Given the description of an element on the screen output the (x, y) to click on. 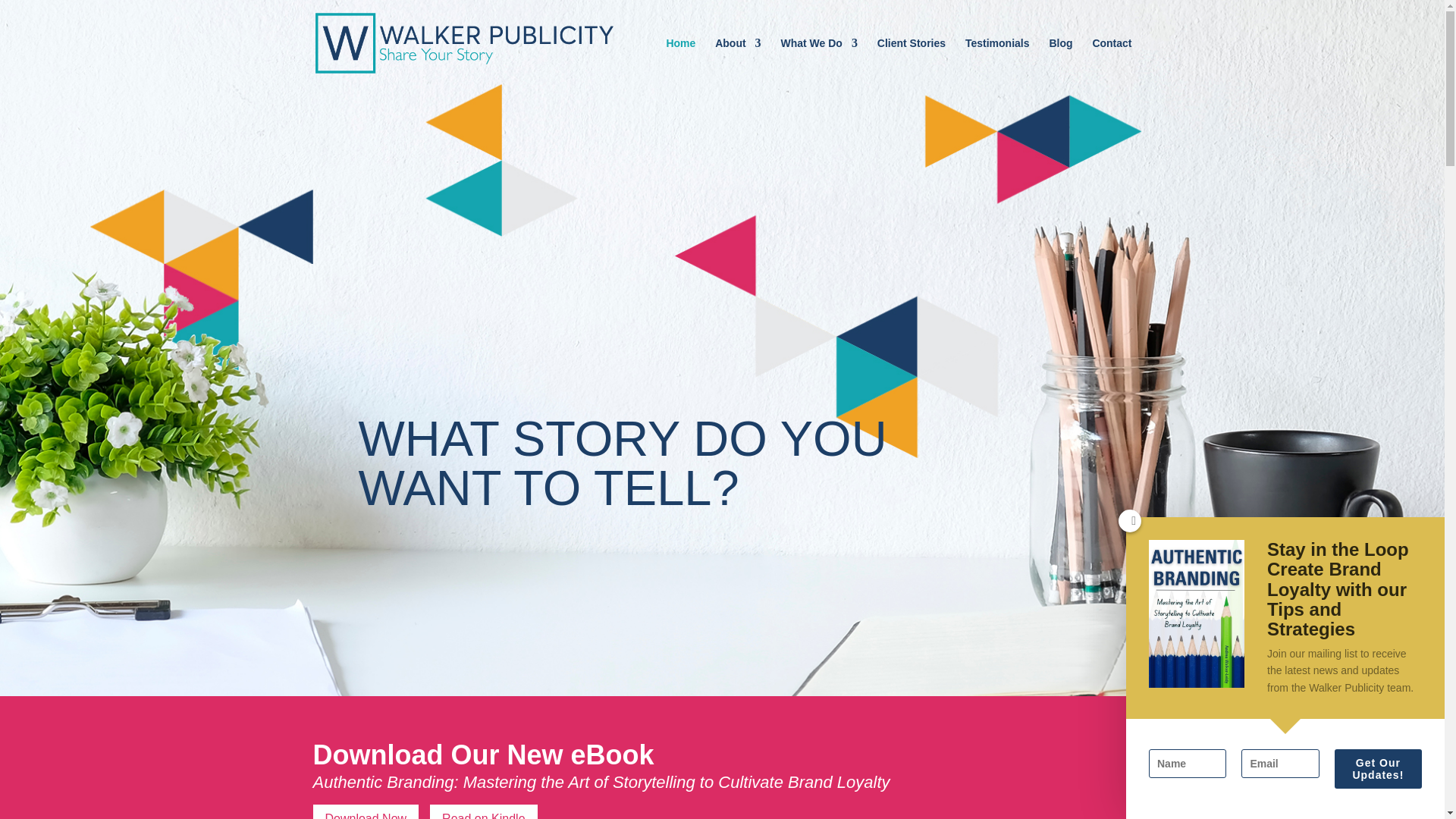
Download Now (366, 811)
About (737, 61)
Client Stories (910, 61)
What We Do (818, 61)
Testimonials (997, 61)
